Given the description of an element on the screen output the (x, y) to click on. 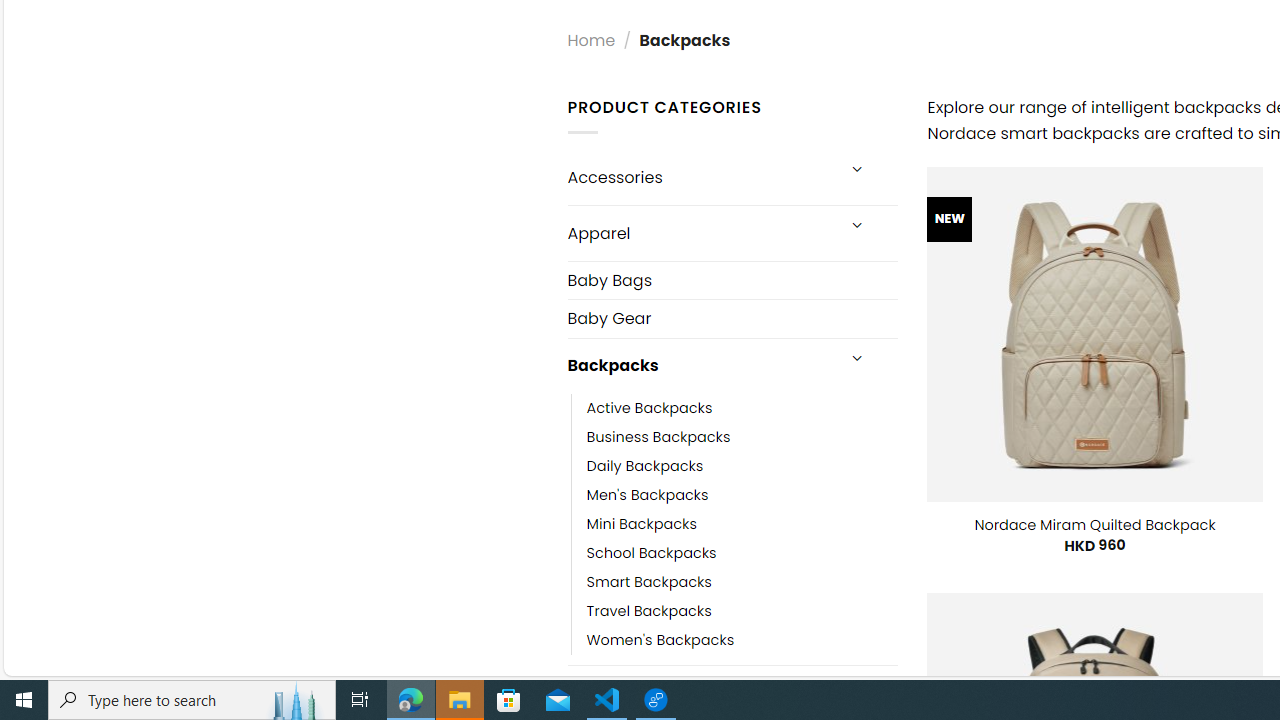
School Backpacks (742, 552)
Women's Backpacks (660, 639)
Daily Backpacks (645, 465)
Baby Gear (732, 317)
Men's Backpacks (742, 494)
Women's Backpacks (742, 639)
School Backpacks (651, 552)
Mini Backpacks (742, 524)
Apparel (700, 232)
Men's Backpacks (647, 494)
Backpacks (700, 366)
Business Backpacks (658, 436)
